Given the description of an element on the screen output the (x, y) to click on. 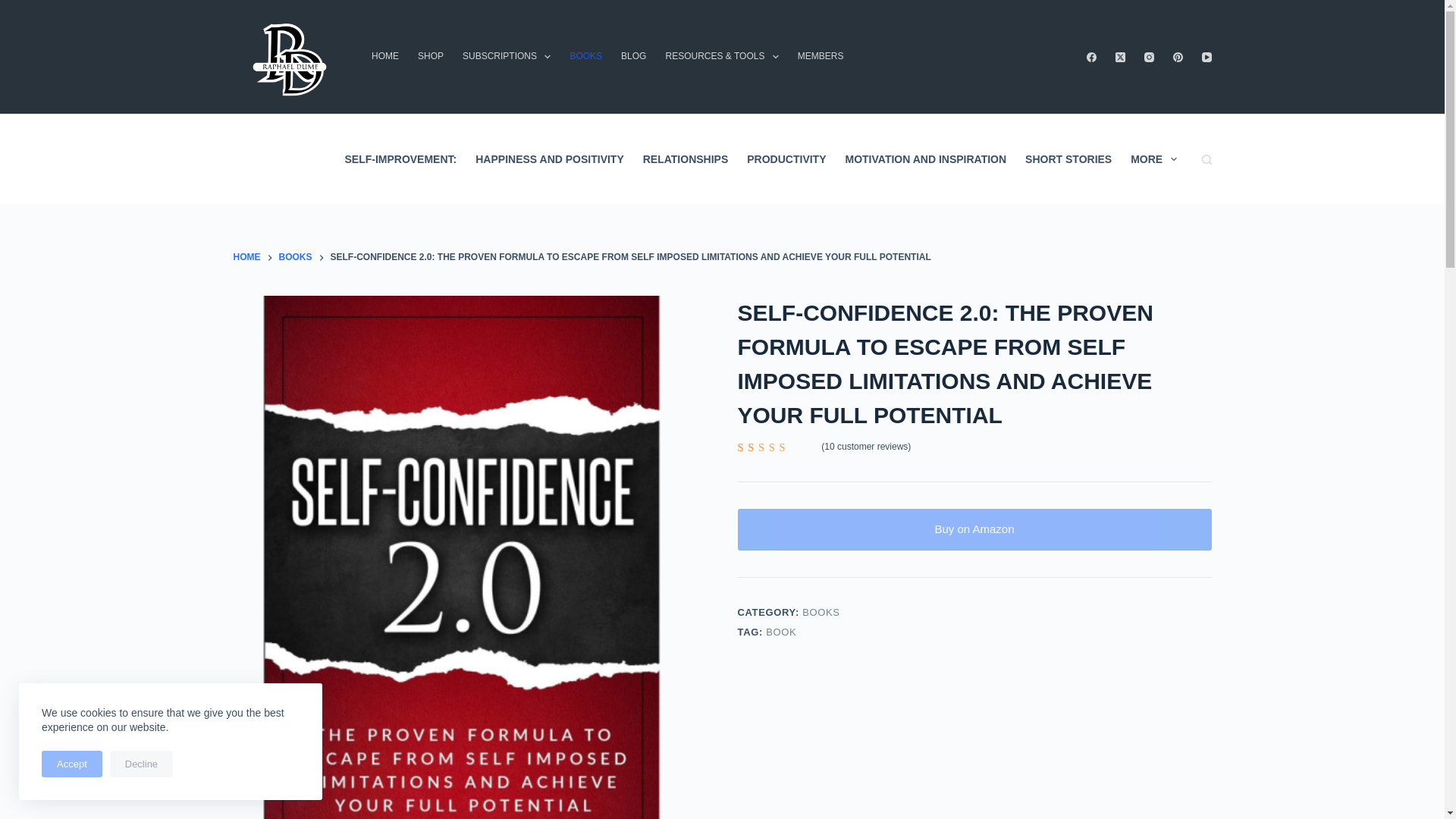
SUBSCRIPTIONS (506, 56)
SELF-IMPROVEMENT: (399, 158)
Accept (71, 764)
Decline (141, 764)
Skip to content (15, 7)
